Given the description of an element on the screen output the (x, y) to click on. 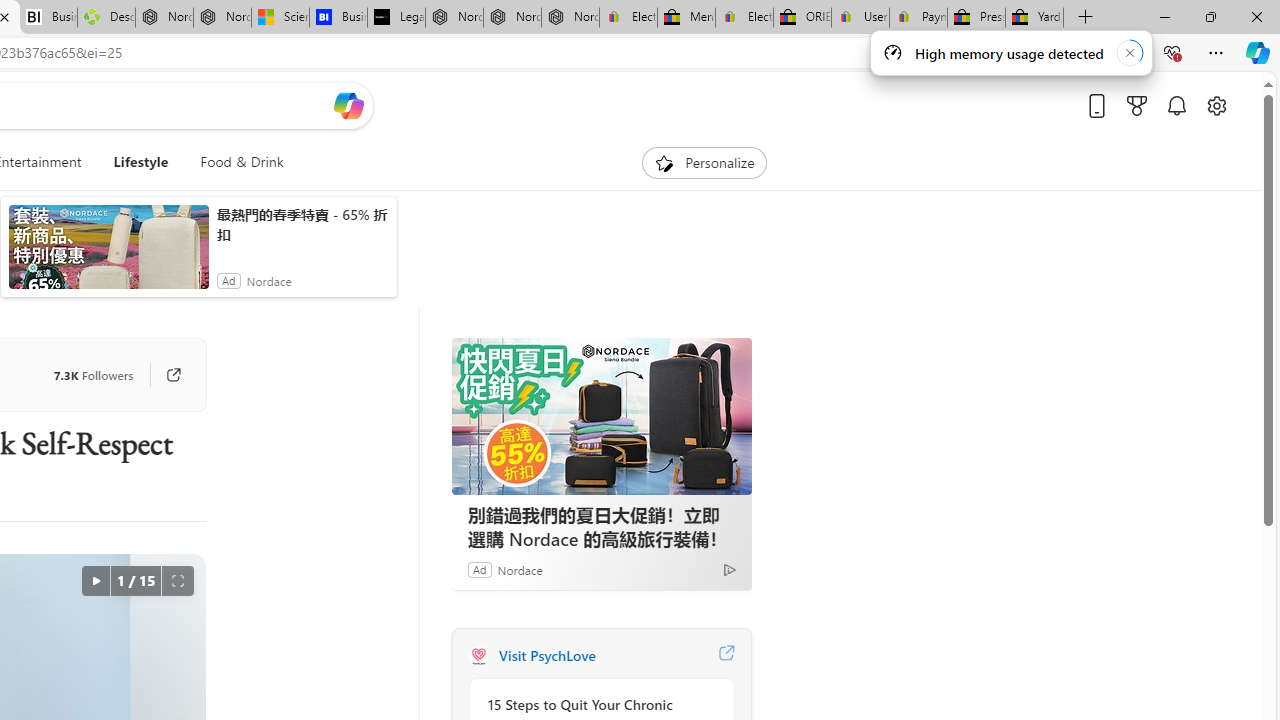
autorotate button (95, 580)
High memory usage detected (1009, 52)
Descarga Driver Updater (106, 17)
Visit PsychLove website (726, 655)
Go to publisher's site (163, 374)
